Given the description of an element on the screen output the (x, y) to click on. 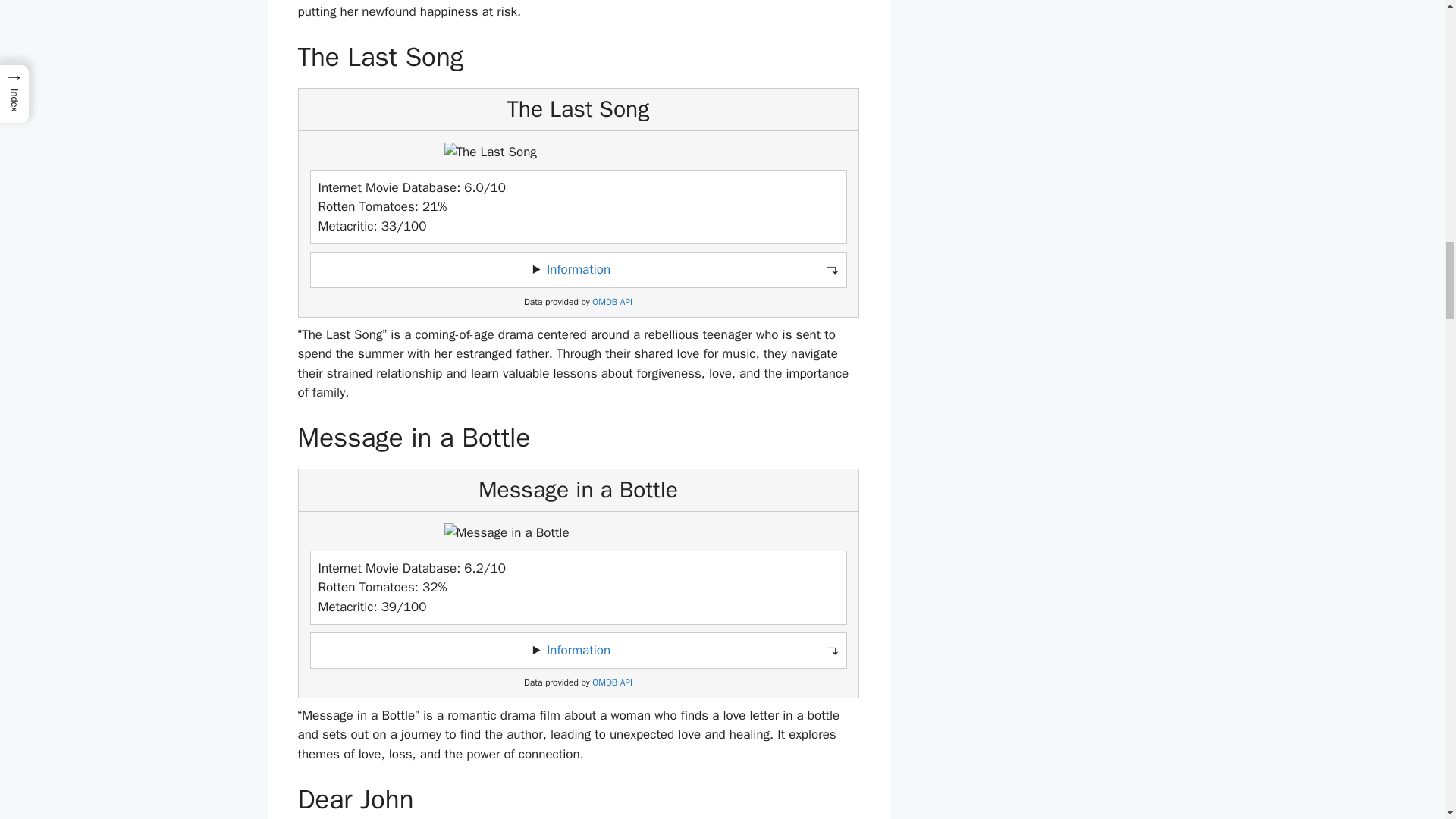
OMDB API (611, 682)
Information (578, 650)
Toggle information (578, 269)
Information (578, 269)
Open Movie Database API (611, 301)
OMDB API (611, 301)
